Given the description of an element on the screen output the (x, y) to click on. 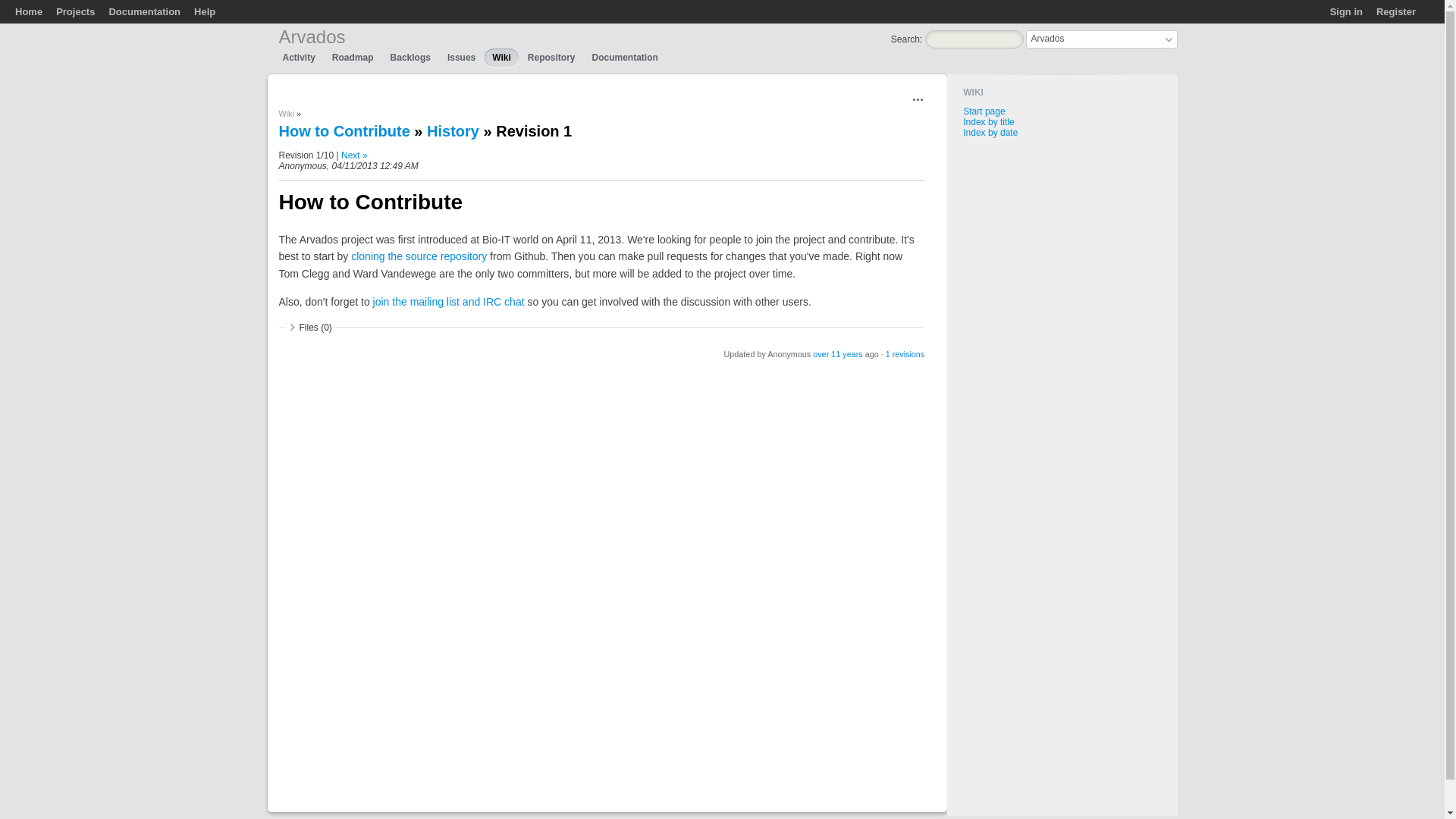
Backlogs (410, 57)
Documentation (625, 57)
Register (1395, 11)
Repository (551, 57)
Index by date (989, 132)
Roadmap (352, 57)
over 11 years (836, 353)
Home (28, 11)
1 revisions (904, 353)
Wiki (501, 57)
Issues (461, 57)
Start page (983, 111)
Help (204, 11)
Wiki (286, 112)
cloning the source repository (418, 256)
